Given the description of an element on the screen output the (x, y) to click on. 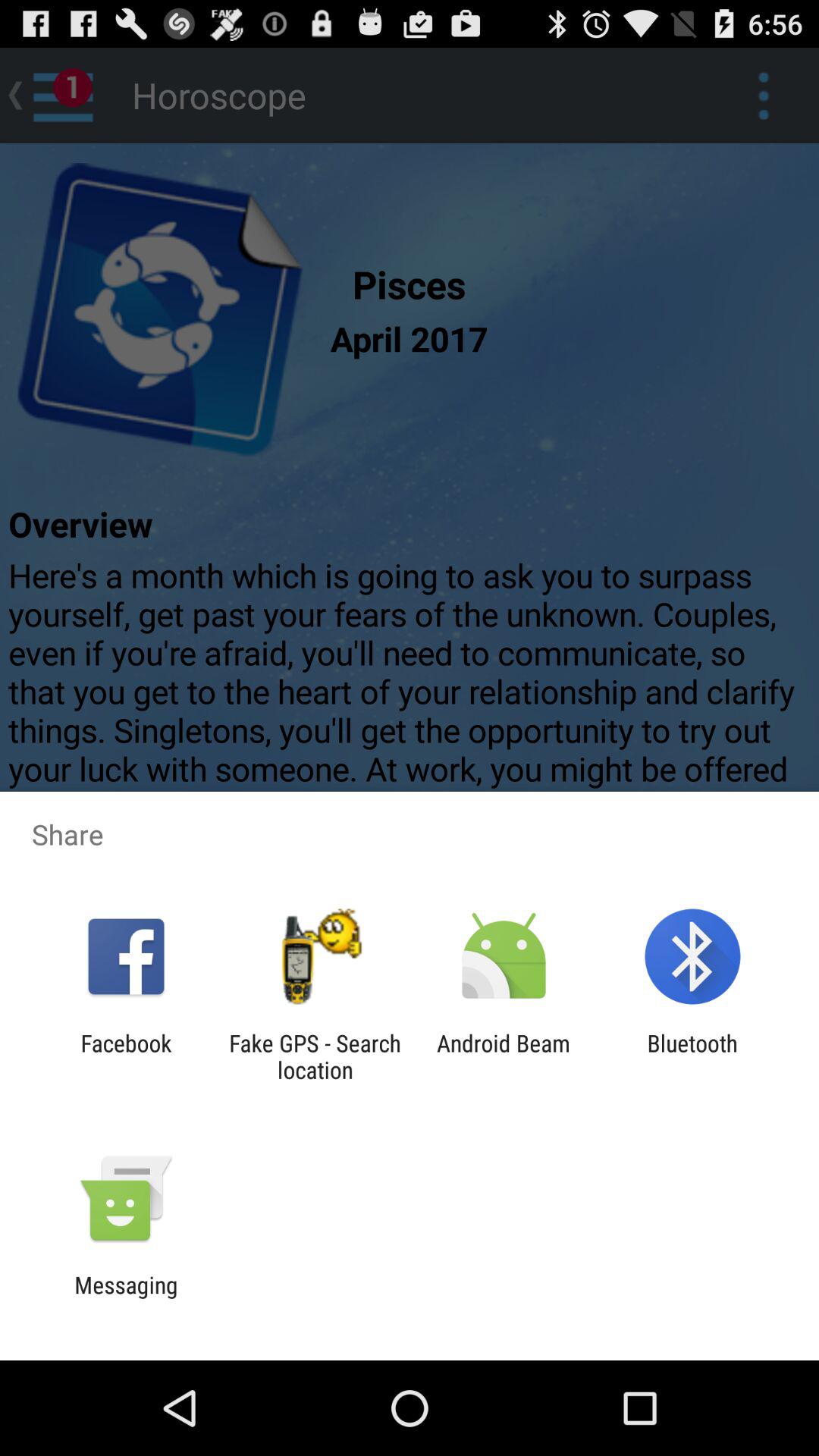
turn on the app to the right of fake gps search (503, 1056)
